Given the description of an element on the screen output the (x, y) to click on. 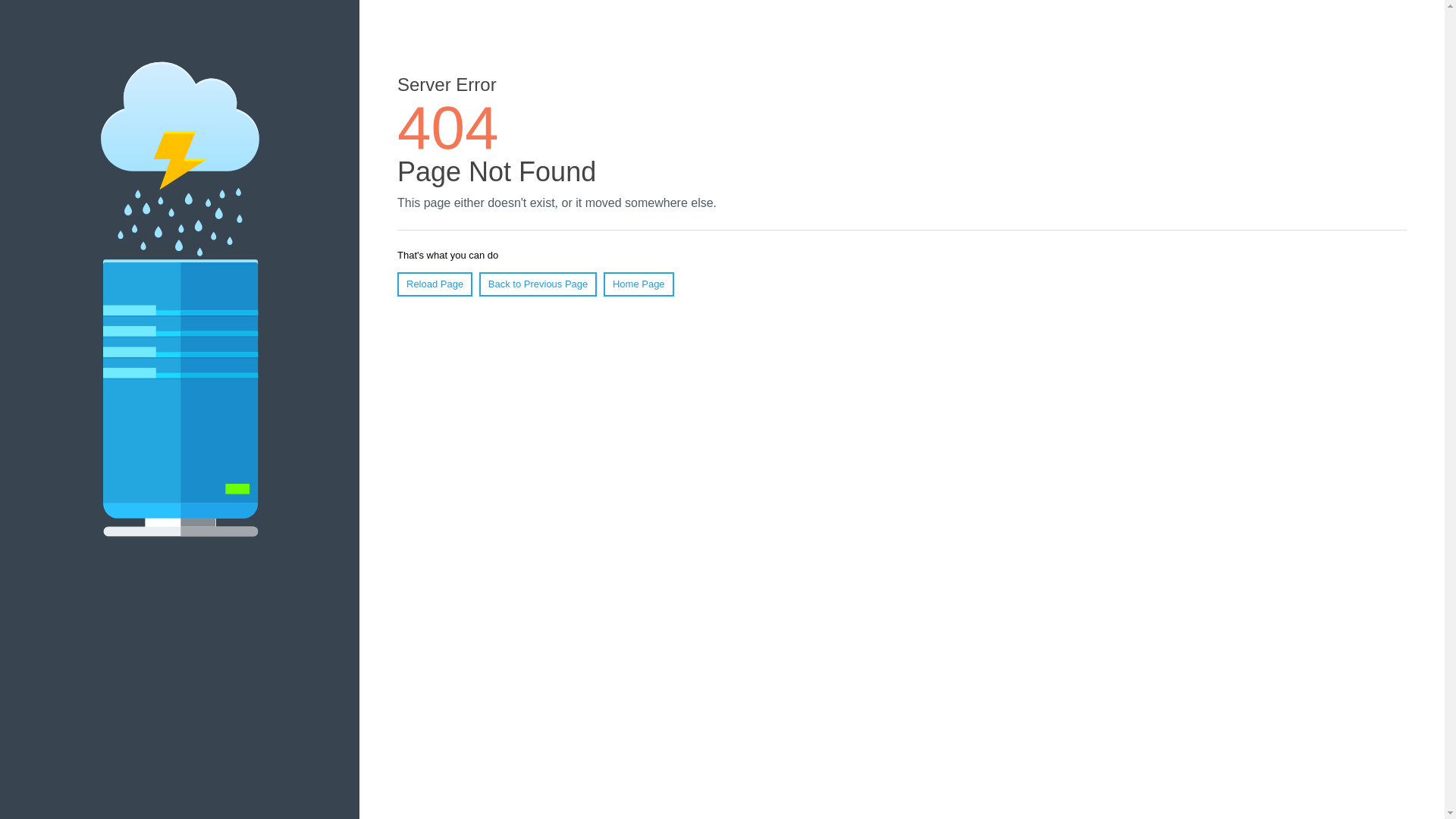
Home Page Element type: text (638, 284)
Reload Page Element type: text (434, 284)
Back to Previous Page Element type: text (538, 284)
